Given the description of an element on the screen output the (x, y) to click on. 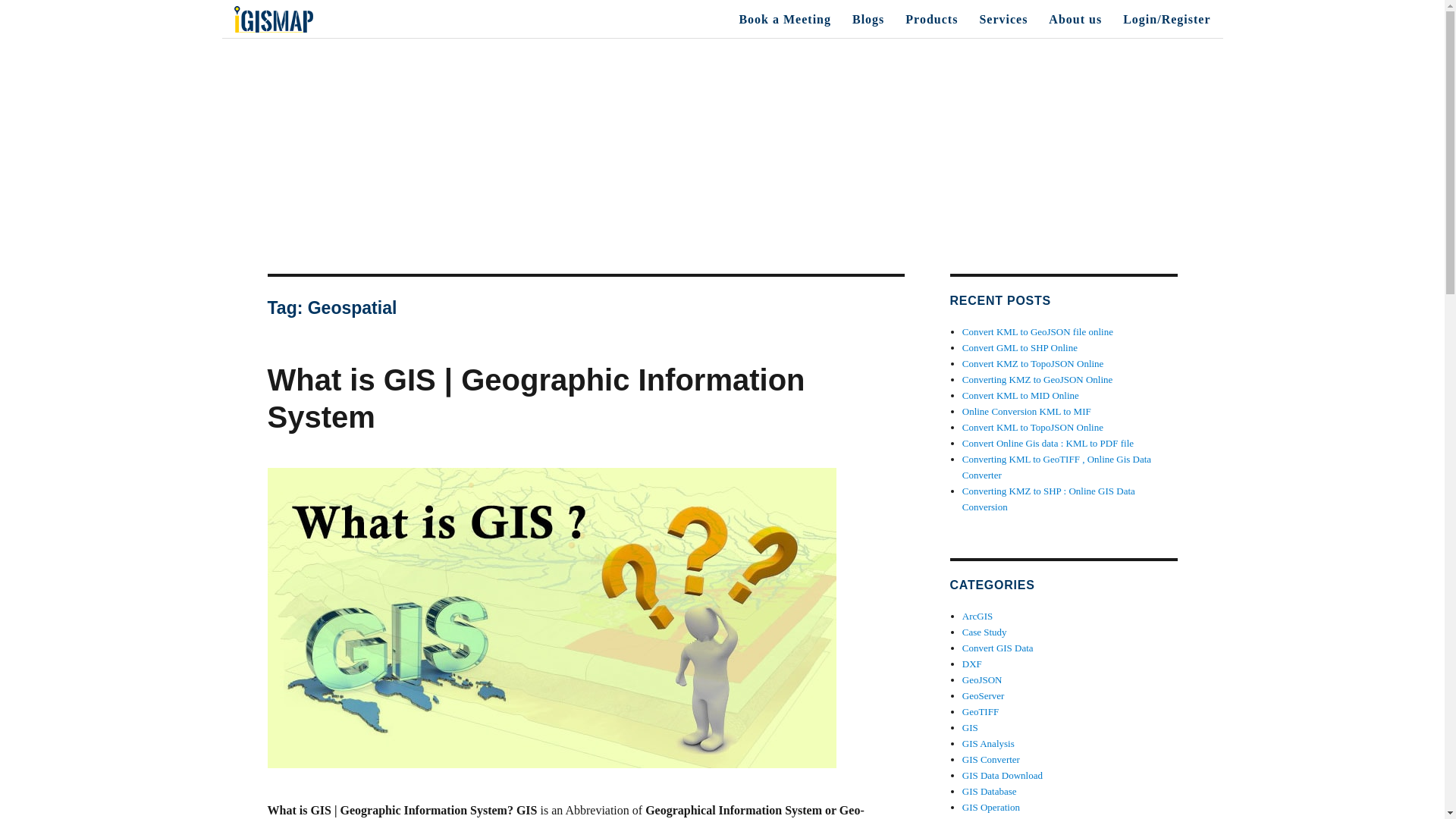
Book a Meeting (784, 19)
Convert GML to SHP Online (1019, 347)
Convert KMZ to TopoJSON Online (1032, 363)
Services (1003, 19)
Case Study (984, 632)
Convert KML to GeoJSON file online (1037, 331)
ArcGIS (977, 615)
Converting KML to GeoTIFF , Online Gis Data Converter (1056, 466)
Convert GIS Data (997, 647)
